Given the description of an element on the screen output the (x, y) to click on. 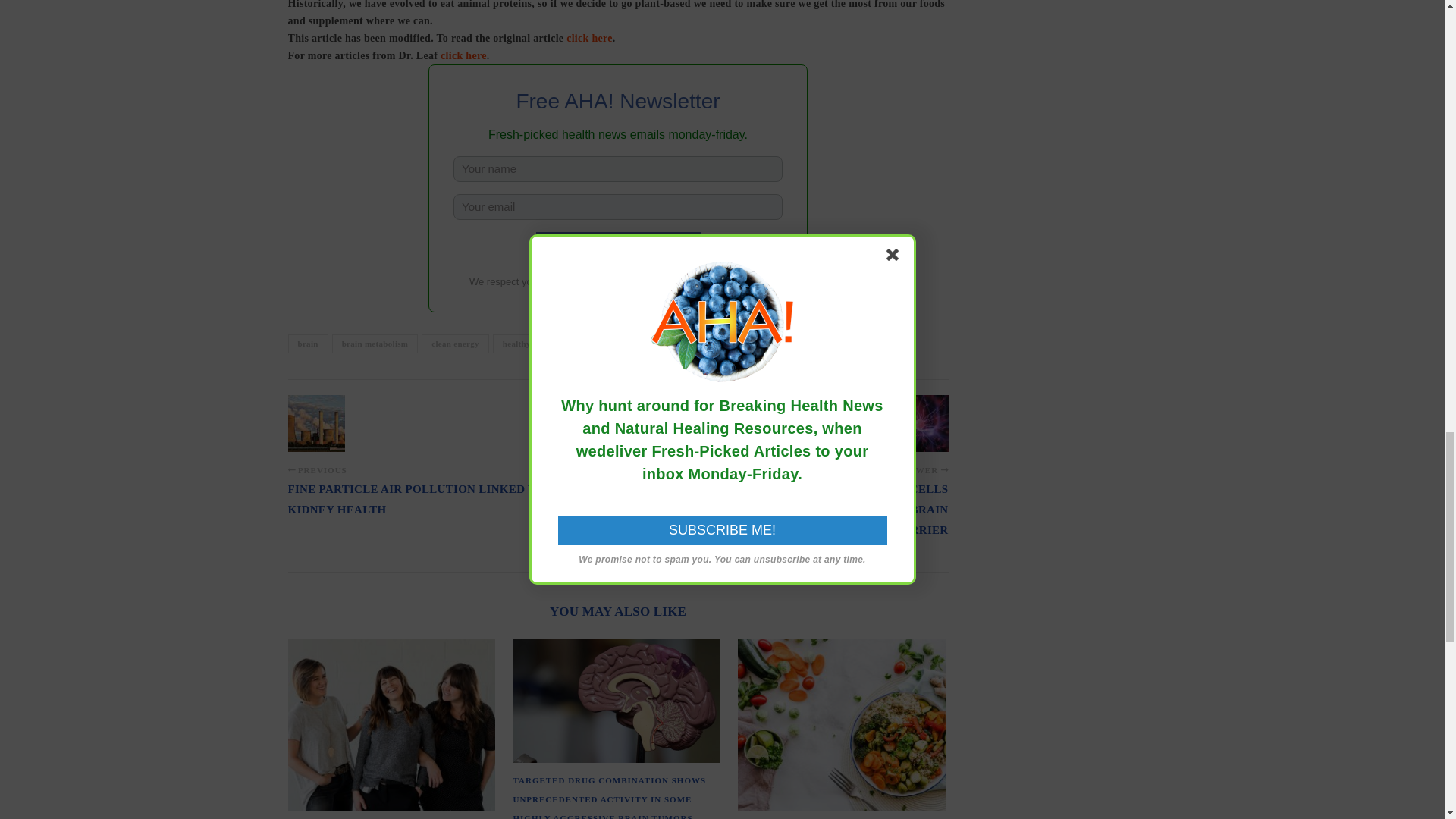
Fine Particle Air Pollution Linked with Poor Kidney Health (316, 423)
Fine Particle Air Pollution Linked with Poor Kidney Health (453, 506)
Subscribe Now (617, 246)
